Given the description of an element on the screen output the (x, y) to click on. 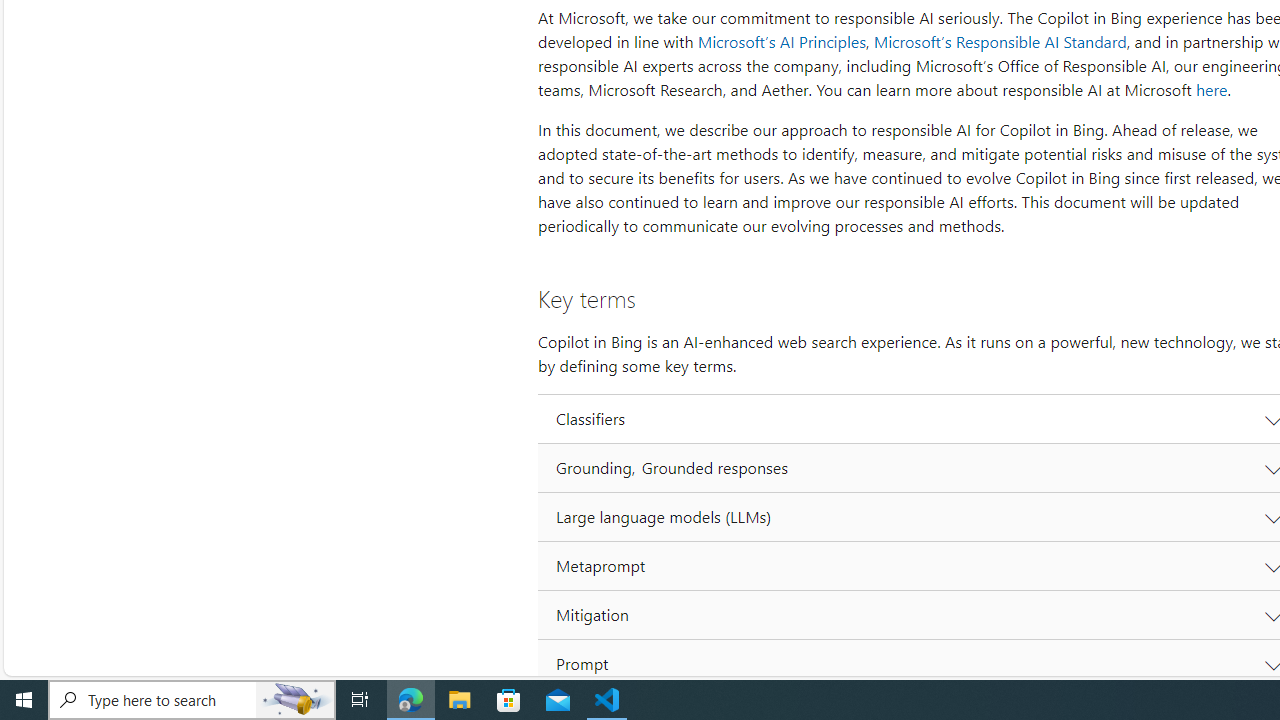
here (1211, 89)
